Given the description of an element on the screen output the (x, y) to click on. 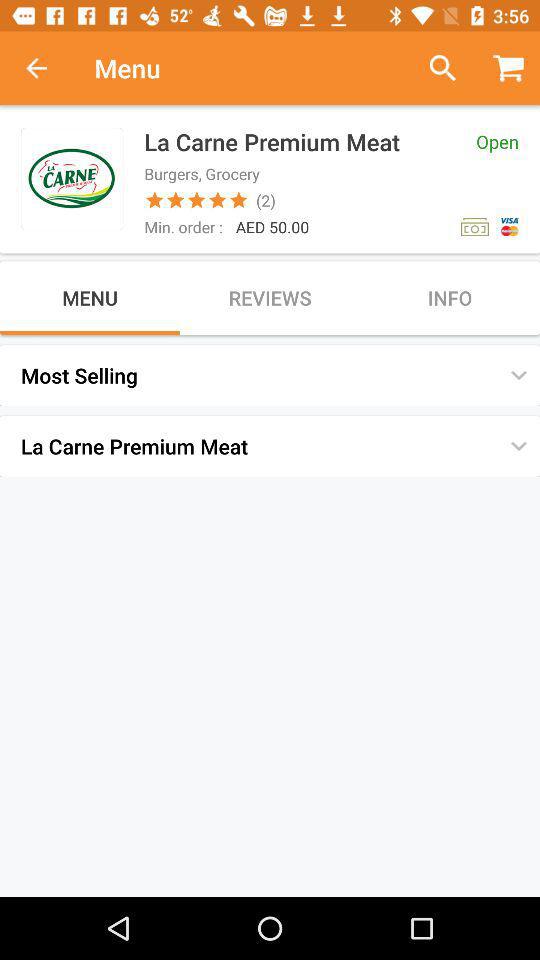
perform a search (434, 68)
